Given the description of an element on the screen output the (x, y) to click on. 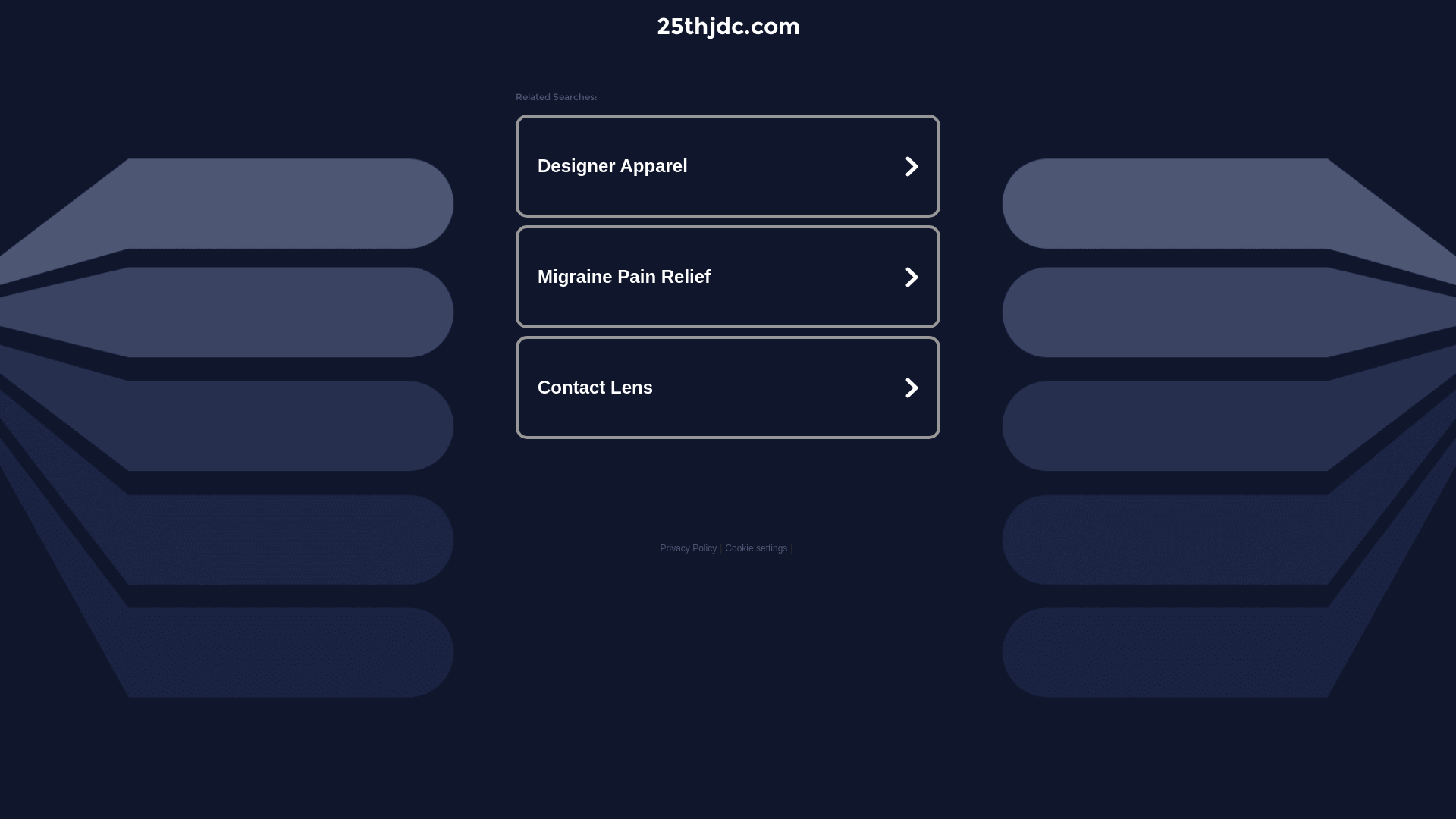
25thjdc.com Element type: text (728, 26)
Contact Lens Element type: text (727, 387)
Privacy Policy Element type: text (687, 547)
Designer Apparel Element type: text (727, 165)
Migraine Pain Relief Element type: text (727, 276)
Cookie settings Element type: text (755, 547)
